Given the description of an element on the screen output the (x, y) to click on. 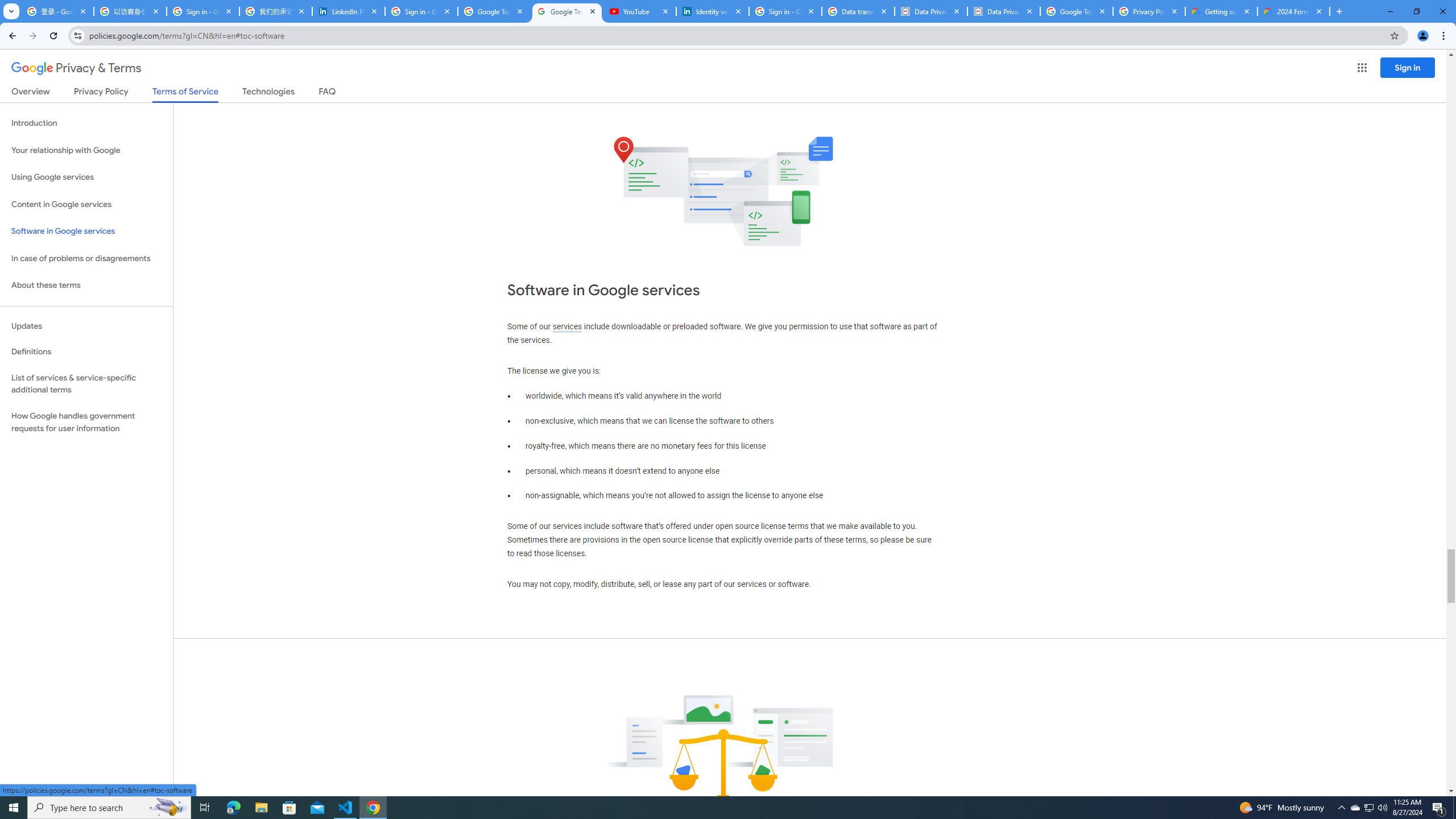
Sign in - Google Accounts (785, 11)
services (566, 326)
YouTube (639, 11)
Sign in - Google Accounts (421, 11)
How Google handles government requests for user information (86, 422)
